Given the description of an element on the screen output the (x, y) to click on. 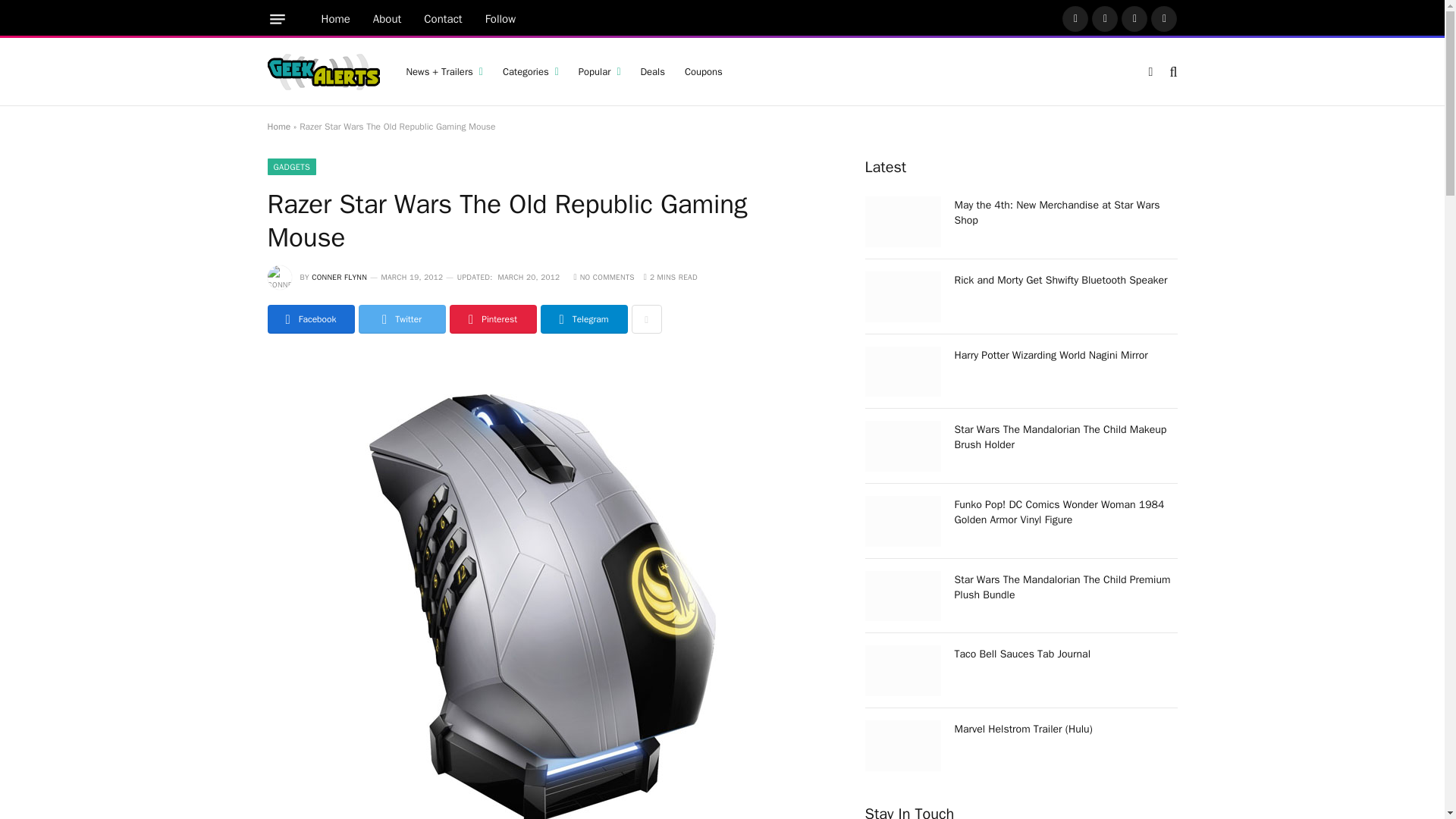
Contact (442, 19)
About (386, 19)
Categories (531, 71)
Follow (500, 19)
Share on Facebook (309, 318)
Share on Pinterest (491, 318)
Pinterest (1134, 18)
RSS (1163, 18)
Share on Telegram (583, 318)
Switch to Dark Design - easier on eyes. (1149, 70)
